Given the description of an element on the screen output the (x, y) to click on. 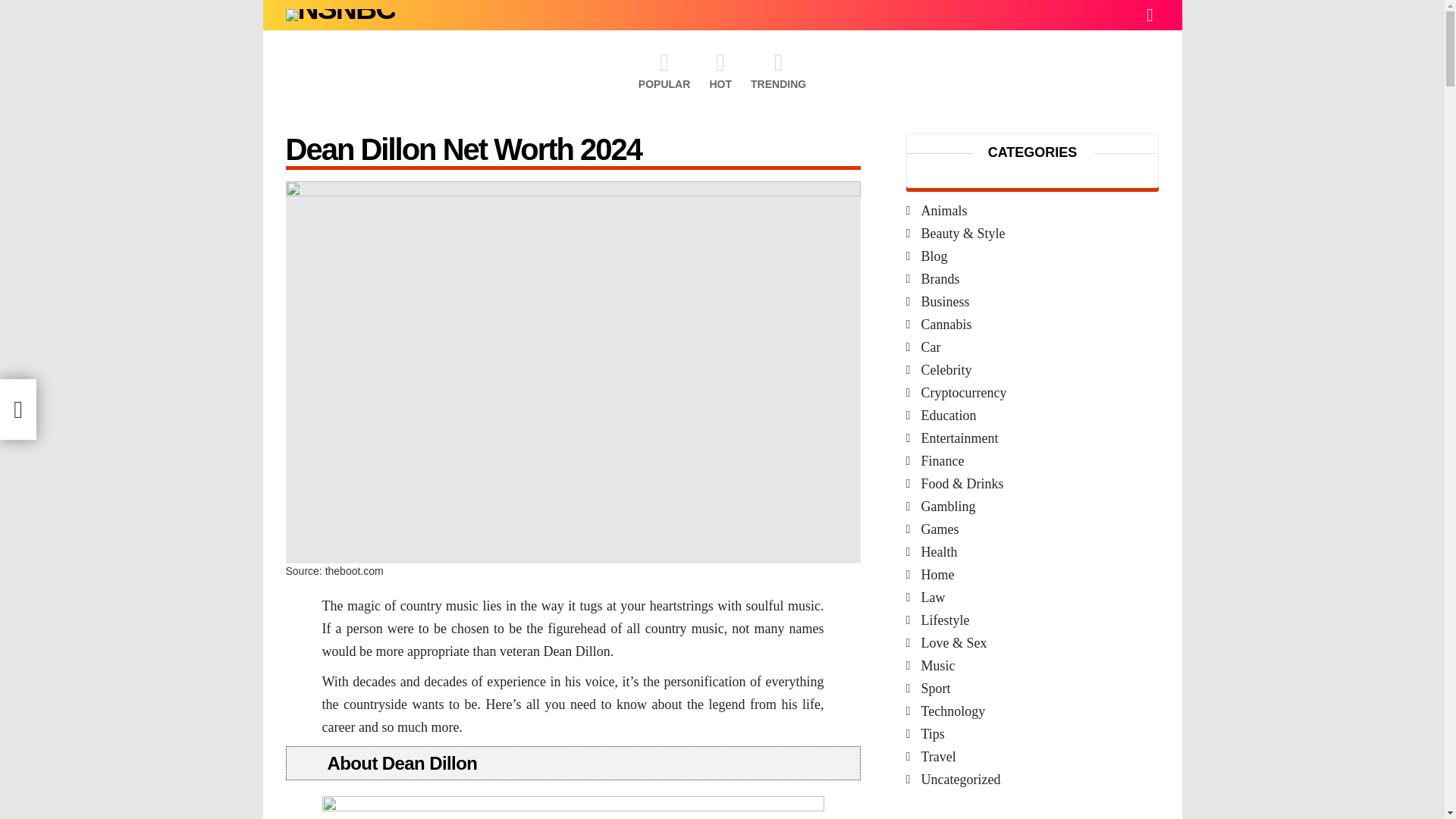
TRENDING (777, 69)
HOT (719, 69)
POPULAR (663, 69)
